Given the description of an element on the screen output the (x, y) to click on. 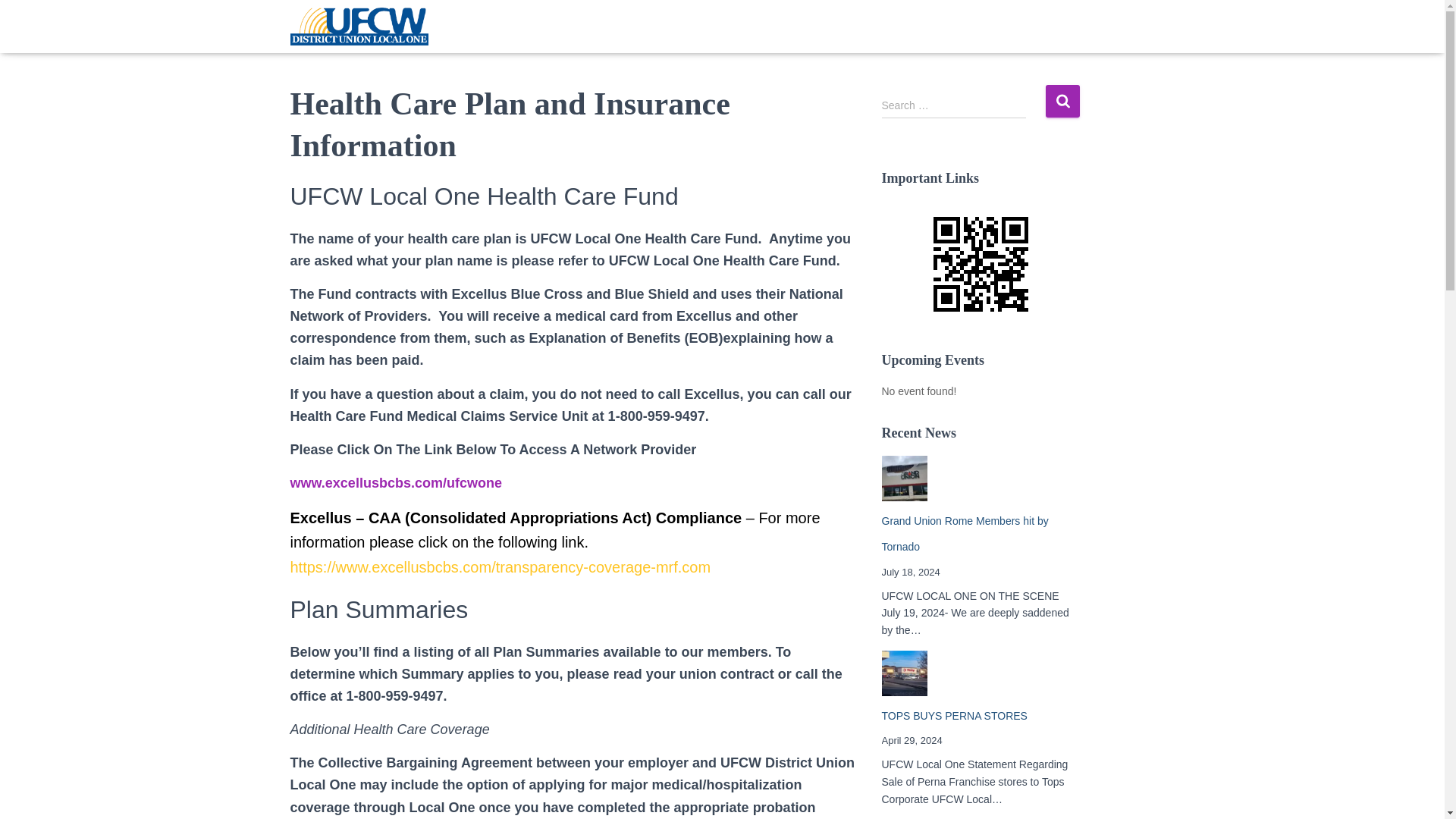
News (502, 26)
Resources (908, 26)
Benefits (686, 26)
Search (1062, 101)
UFCW Local One (360, 26)
Representation (585, 26)
Search (1062, 101)
Organize Join Us! (793, 26)
